Given the description of an element on the screen output the (x, y) to click on. 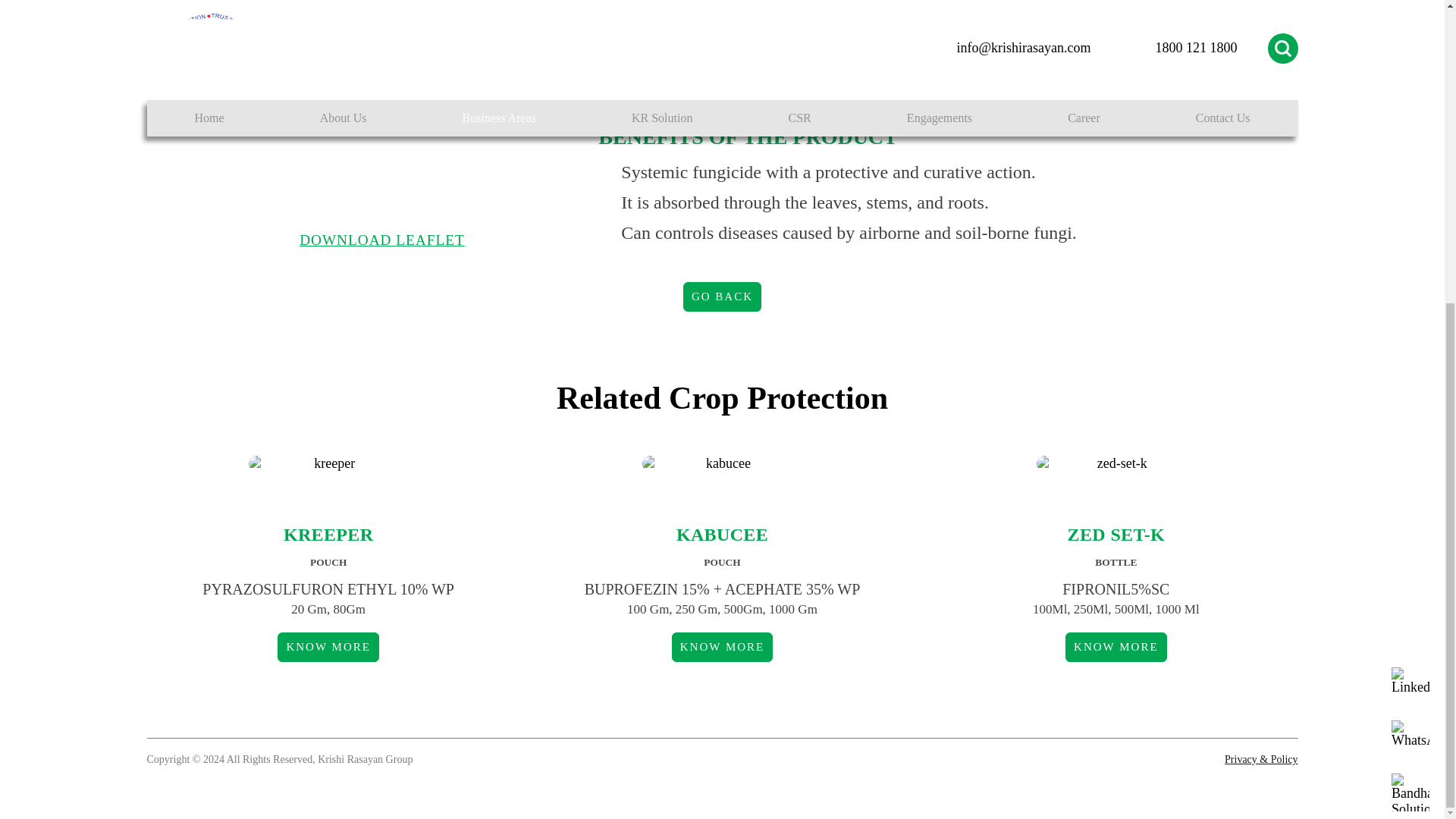
DOWNLOAD LEAFLET (367, 239)
ZED SET-K (1115, 534)
LinkedIn (1410, 212)
kabucee (722, 463)
KNOW MORE (722, 646)
KNOW MORE (1115, 646)
KNOW MORE (328, 646)
KABUCEE (722, 534)
krilaxyl-plus-plus-35-ws (367, 88)
WhatsApp (1410, 266)
